Given the description of an element on the screen output the (x, y) to click on. 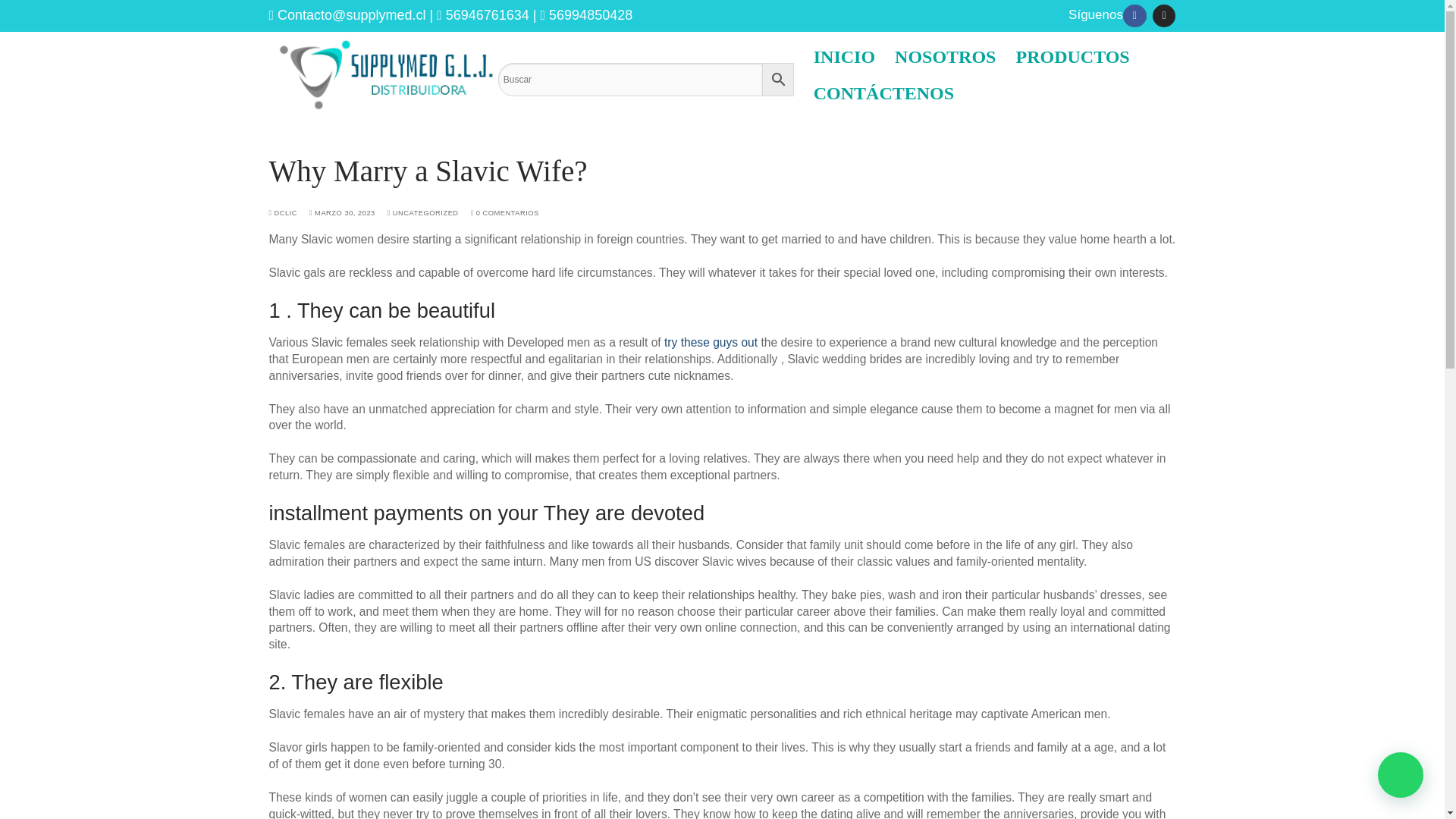
try these guys out (710, 341)
Facebook (1134, 15)
INICIO (844, 56)
MARZO 30, 2023 (341, 213)
UNCATEGORIZED (422, 213)
DCLIC (282, 213)
Instagram (1163, 15)
NOSOTROS (945, 56)
0 COMENTARIOS (504, 213)
PRODUCTOS (1072, 56)
